Given the description of an element on the screen output the (x, y) to click on. 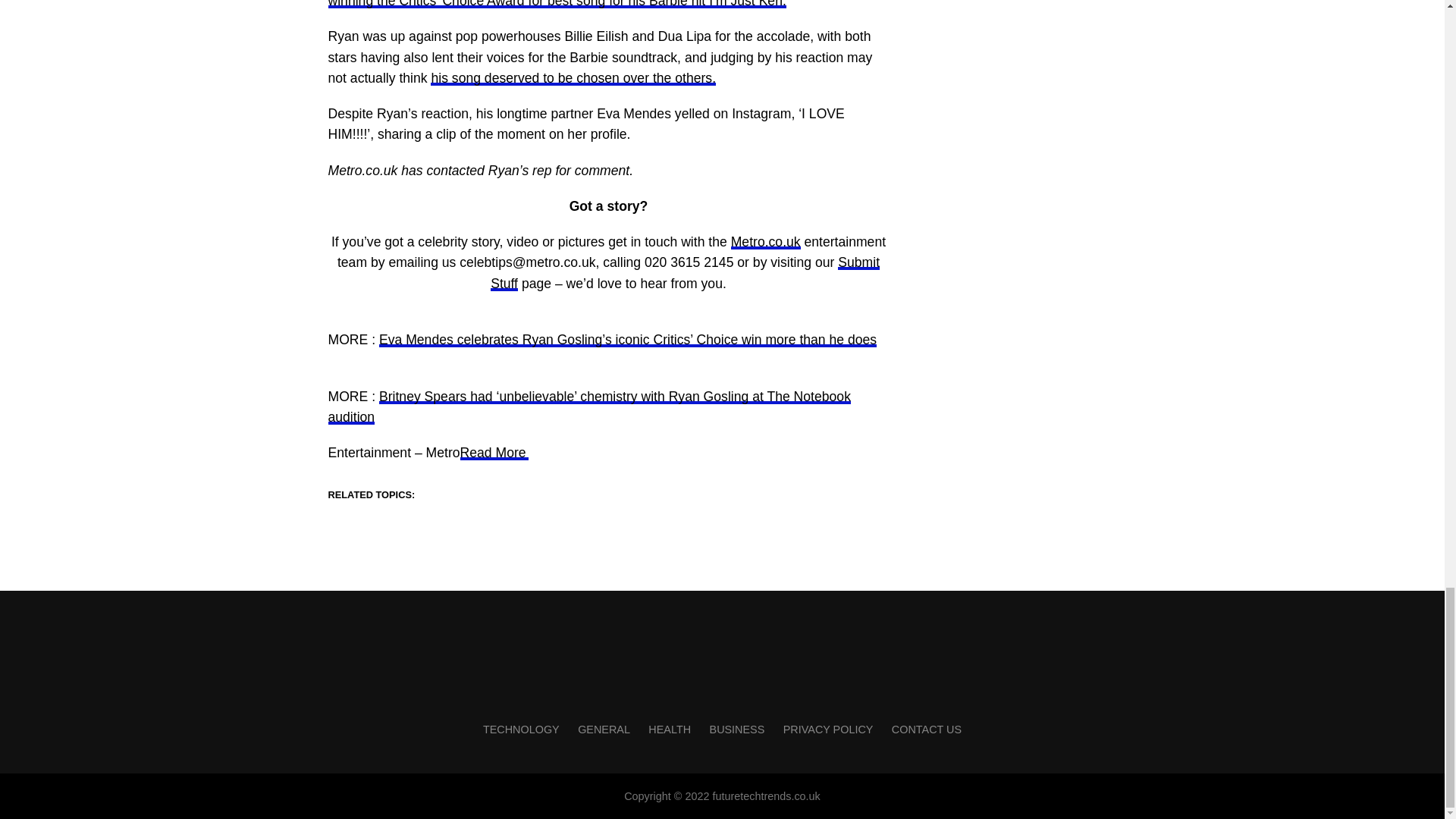
HEALTH (668, 729)
Read More (494, 452)
Submit Stuff (684, 272)
GENERAL (604, 729)
PRIVACY POLICY (828, 729)
CONTACT US (925, 729)
his song deserved to be chosen over the others. (573, 77)
TECHNOLOGY (521, 729)
Metro.co.uk (765, 241)
BUSINESS (737, 729)
